Given the description of an element on the screen output the (x, y) to click on. 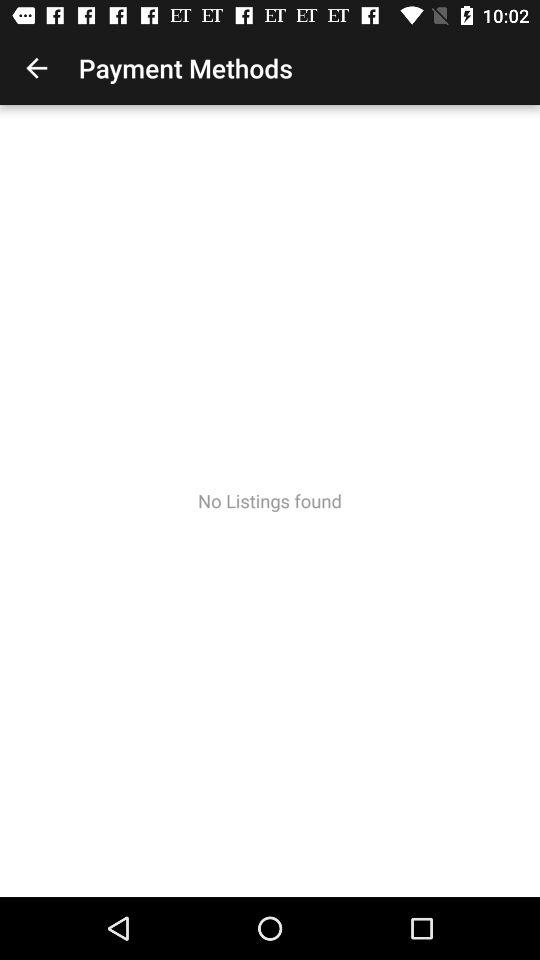
tap the icon next to the payment methods (36, 68)
